Given the description of an element on the screen output the (x, y) to click on. 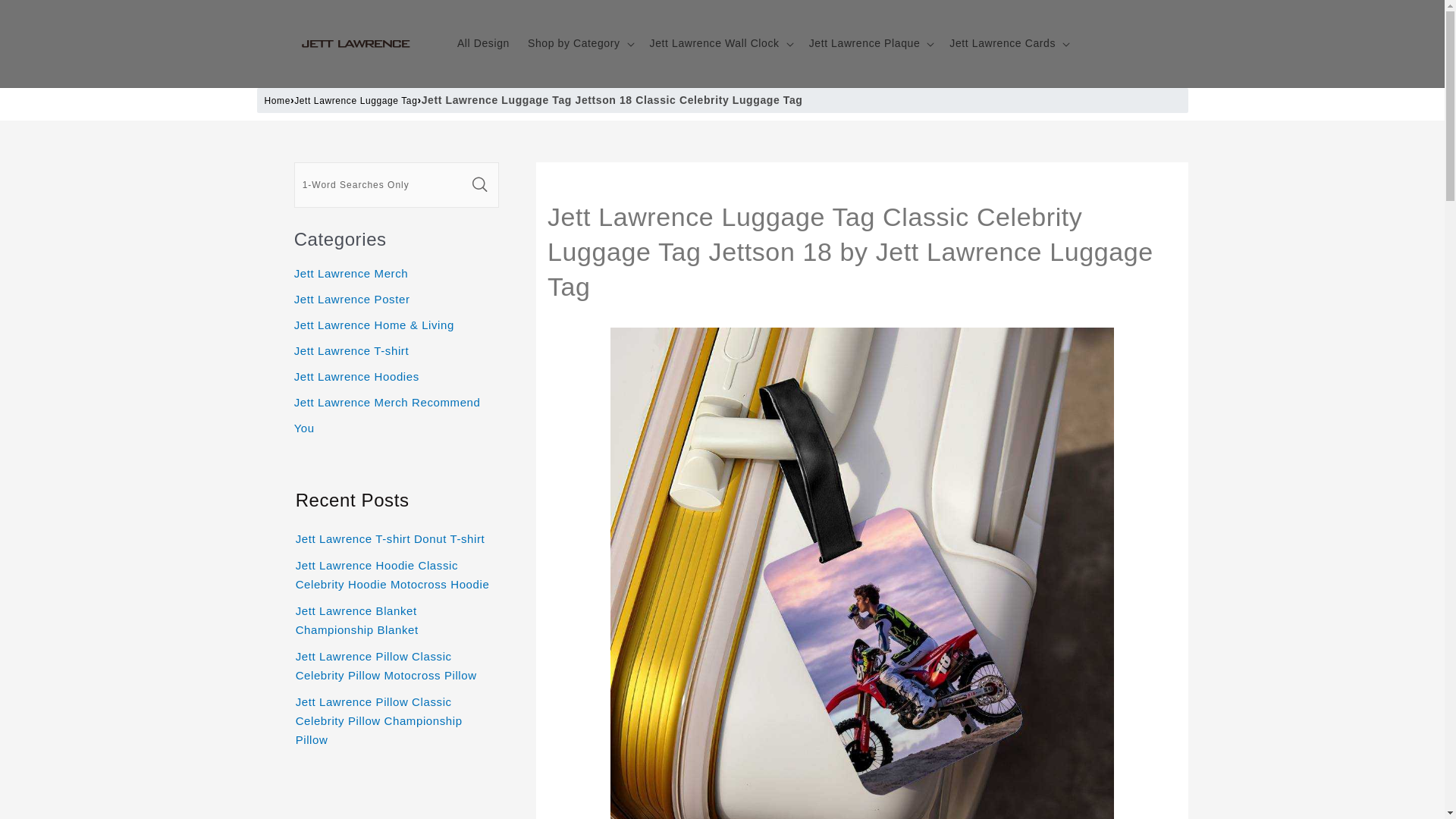
Home (276, 100)
